Given the description of an element on the screen output the (x, y) to click on. 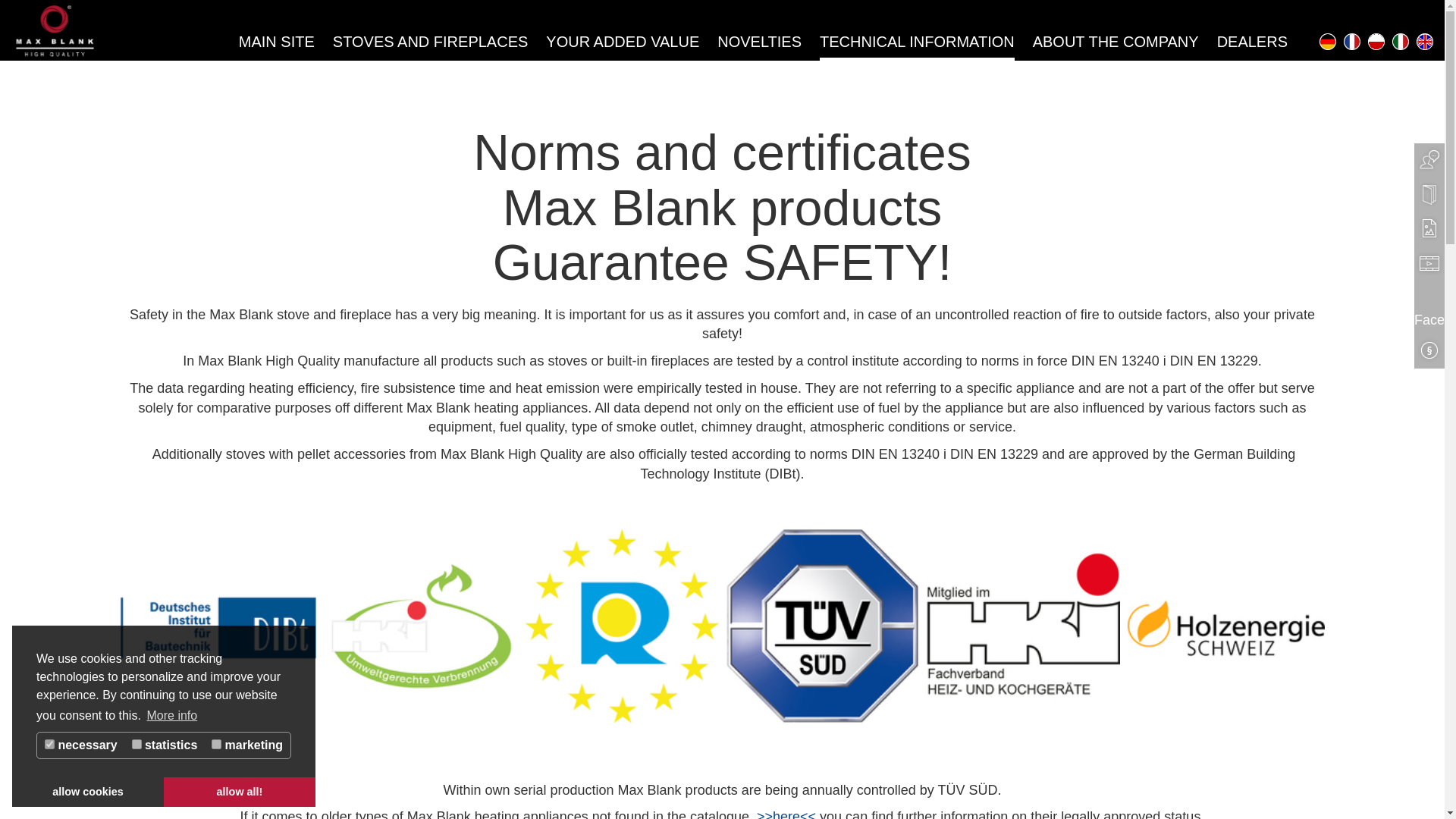
it (1400, 41)
STOVES AND FIREPLACES (430, 41)
en (1424, 41)
MAIN SITE (276, 41)
allow all! (239, 791)
de (1327, 41)
More info (171, 715)
HKI Online - Max Blank (788, 814)
allow cookies (87, 791)
pl (1376, 41)
